Given the description of an element on the screen output the (x, y) to click on. 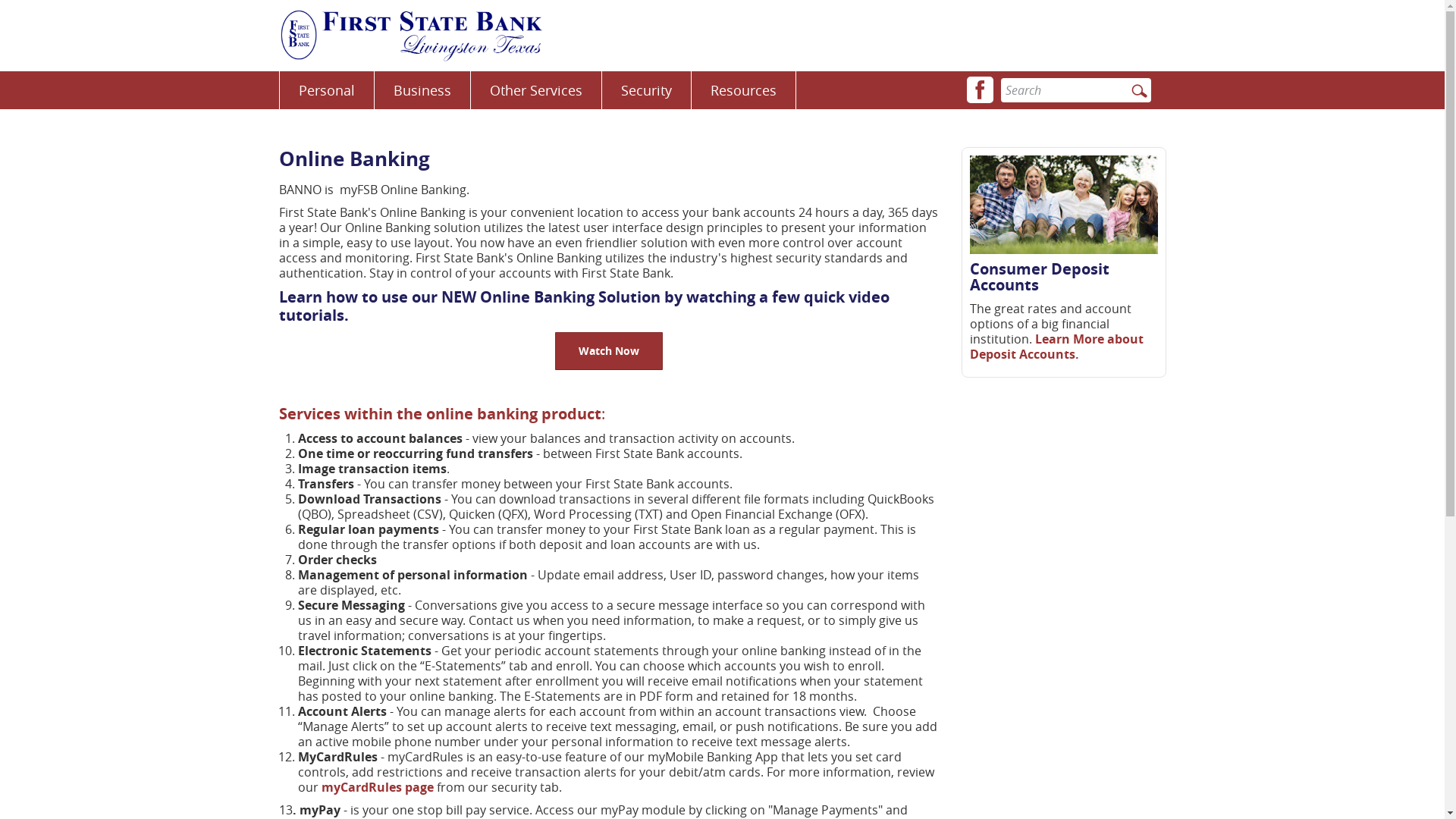
myCardRules page Element type: text (377, 786)
Facebook icon Element type: text (979, 89)
Learn More about Deposit Accounts. Element type: text (1055, 346)
Submit search Element type: text (1138, 90)
Watch Now Element type: text (608, 351)
First State Bank of Livingston, Livingston, TX Element type: hover (410, 35)
